Given the description of an element on the screen output the (x, y) to click on. 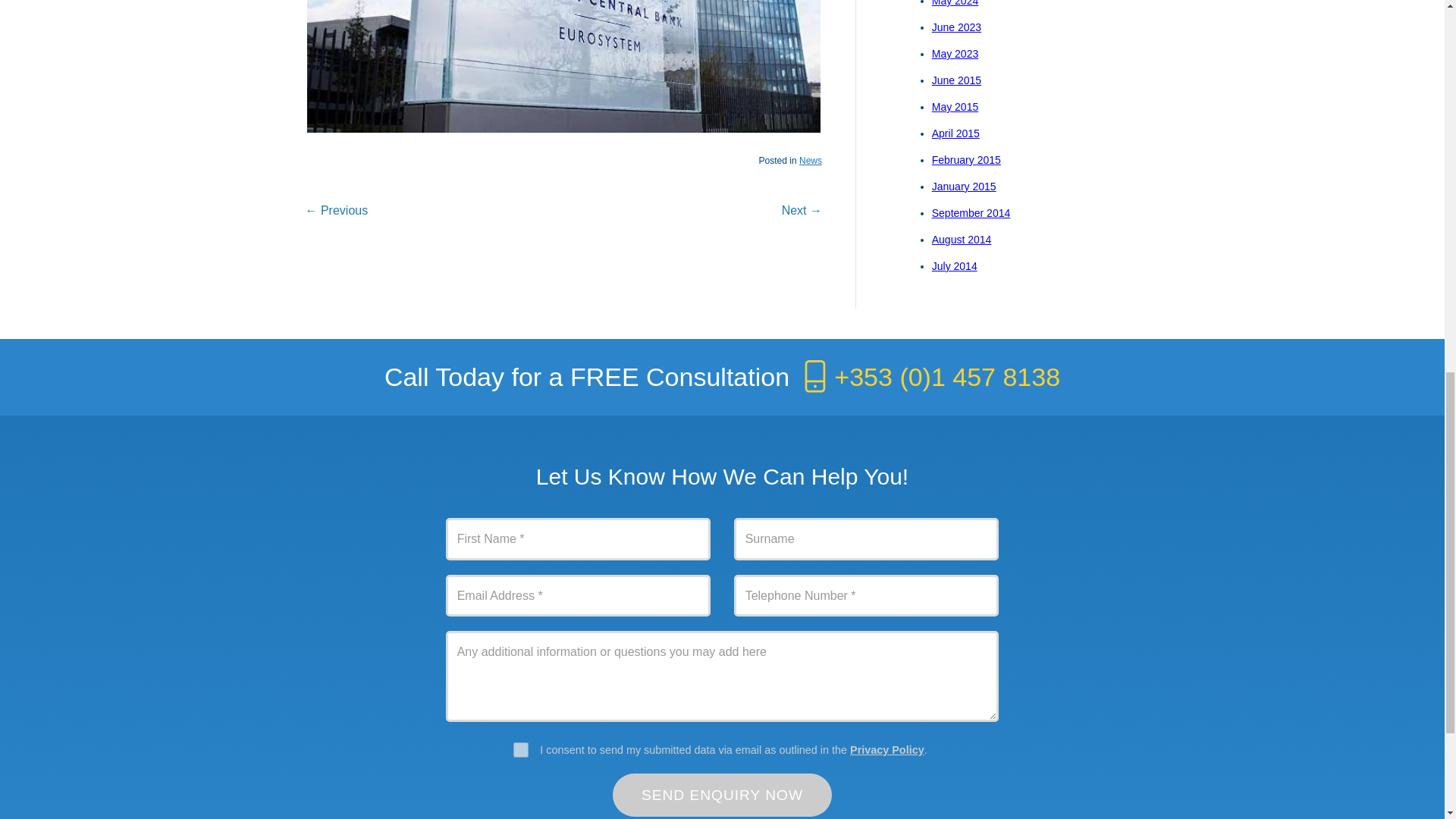
News (810, 160)
May 2024 (954, 3)
SEND ENQUIRY NOW (722, 795)
1 (520, 749)
June 2023 (956, 27)
